Given the description of an element on the screen output the (x, y) to click on. 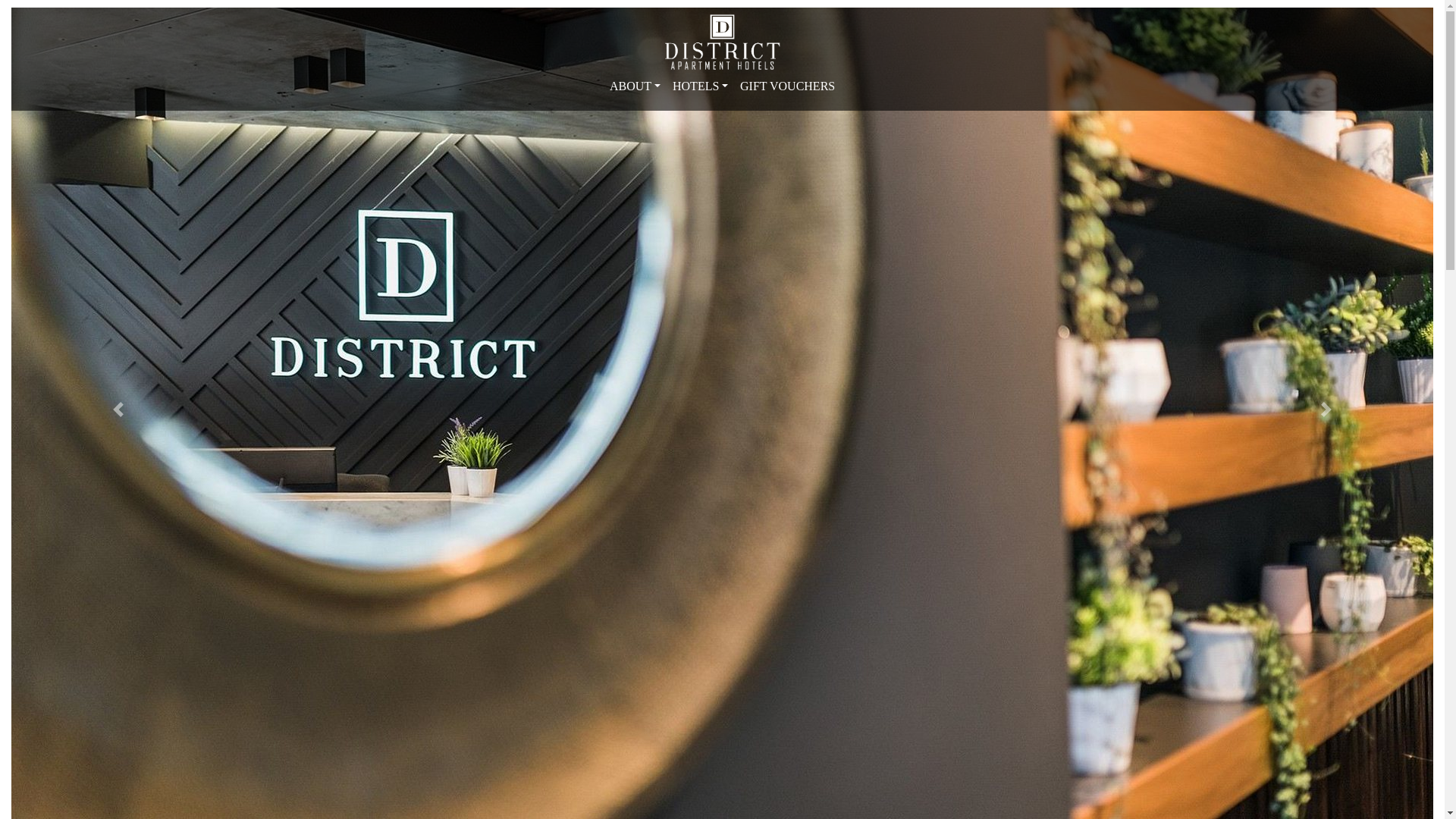
GIFT VOUCHERS Element type: text (787, 86)
ABOUT Element type: text (634, 86)
HOTELS Element type: text (700, 86)
